Given the description of an element on the screen output the (x, y) to click on. 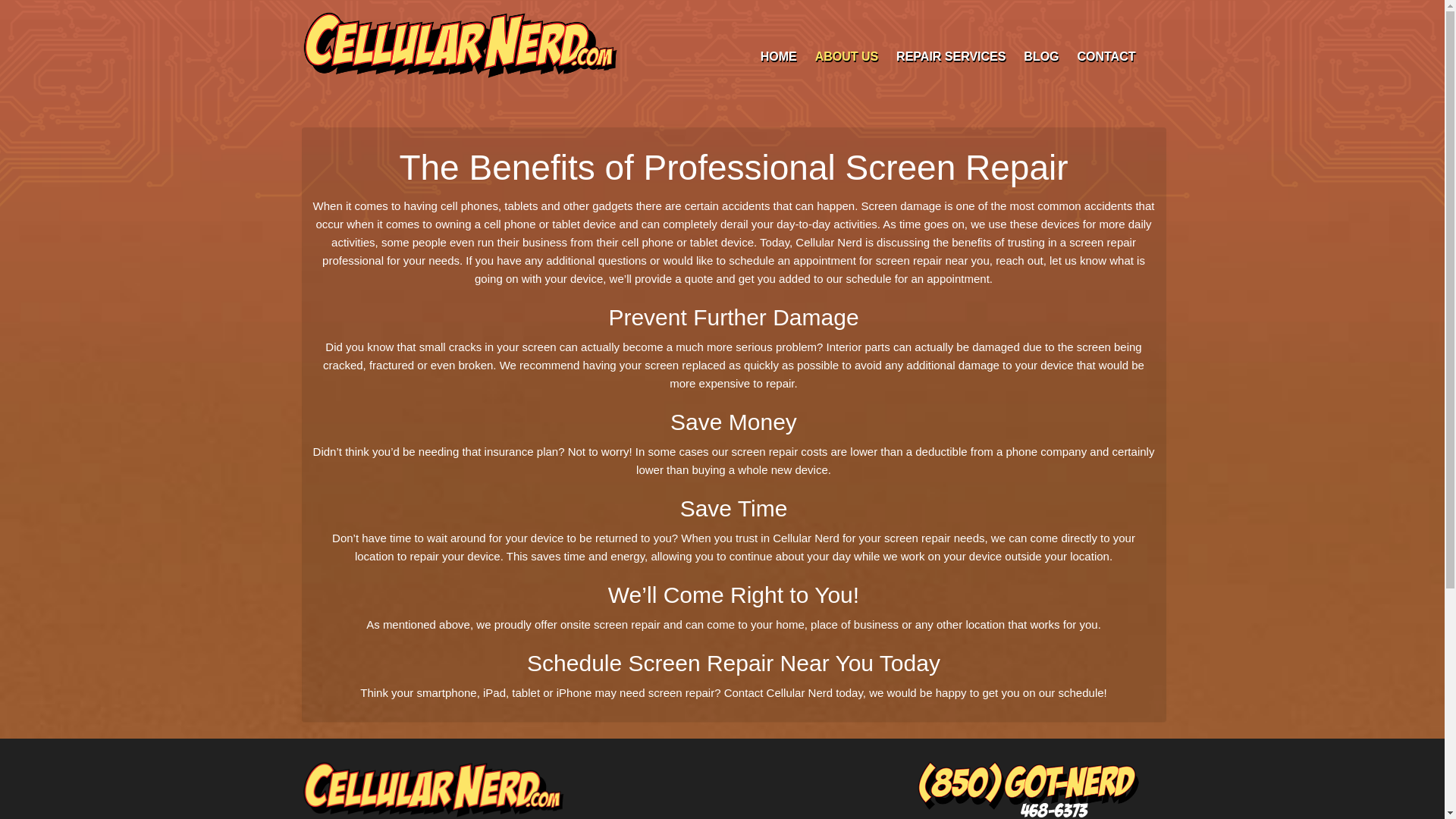
CONTACT (1105, 56)
BLOG (1040, 56)
HOME (778, 56)
ABOUT US (847, 56)
REPAIR SERVICES (950, 56)
